Given the description of an element on the screen output the (x, y) to click on. 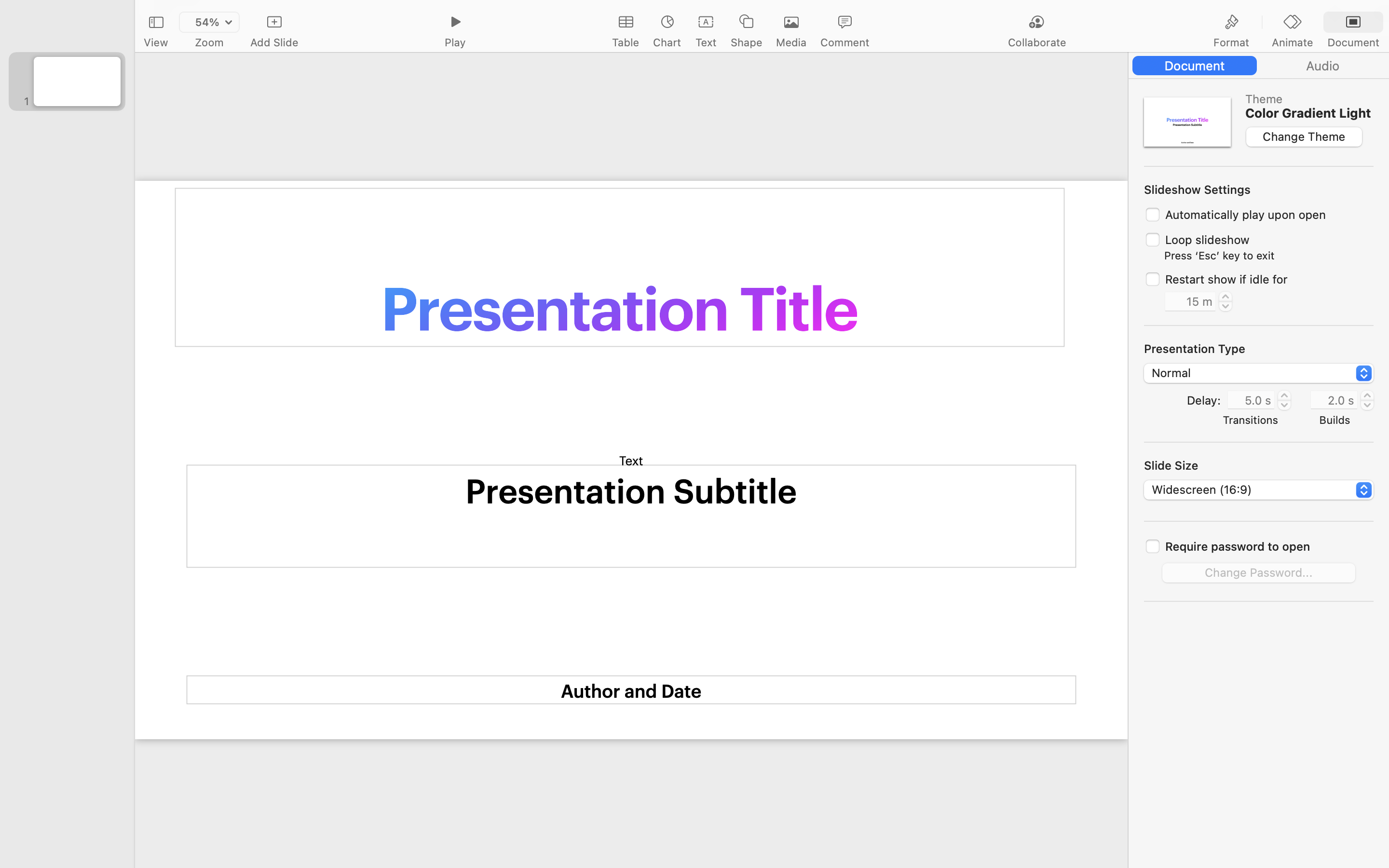
Animate Element type: AXStaticText (1291, 42)
Theme Element type: AXStaticText (1307, 98)
Document Element type: AXStaticText (1352, 42)
5.0 s Element type: AXTextField (1250, 398)
Press ‘Esc’ key to exit Element type: AXStaticText (1219, 255)
